Given the description of an element on the screen output the (x, y) to click on. 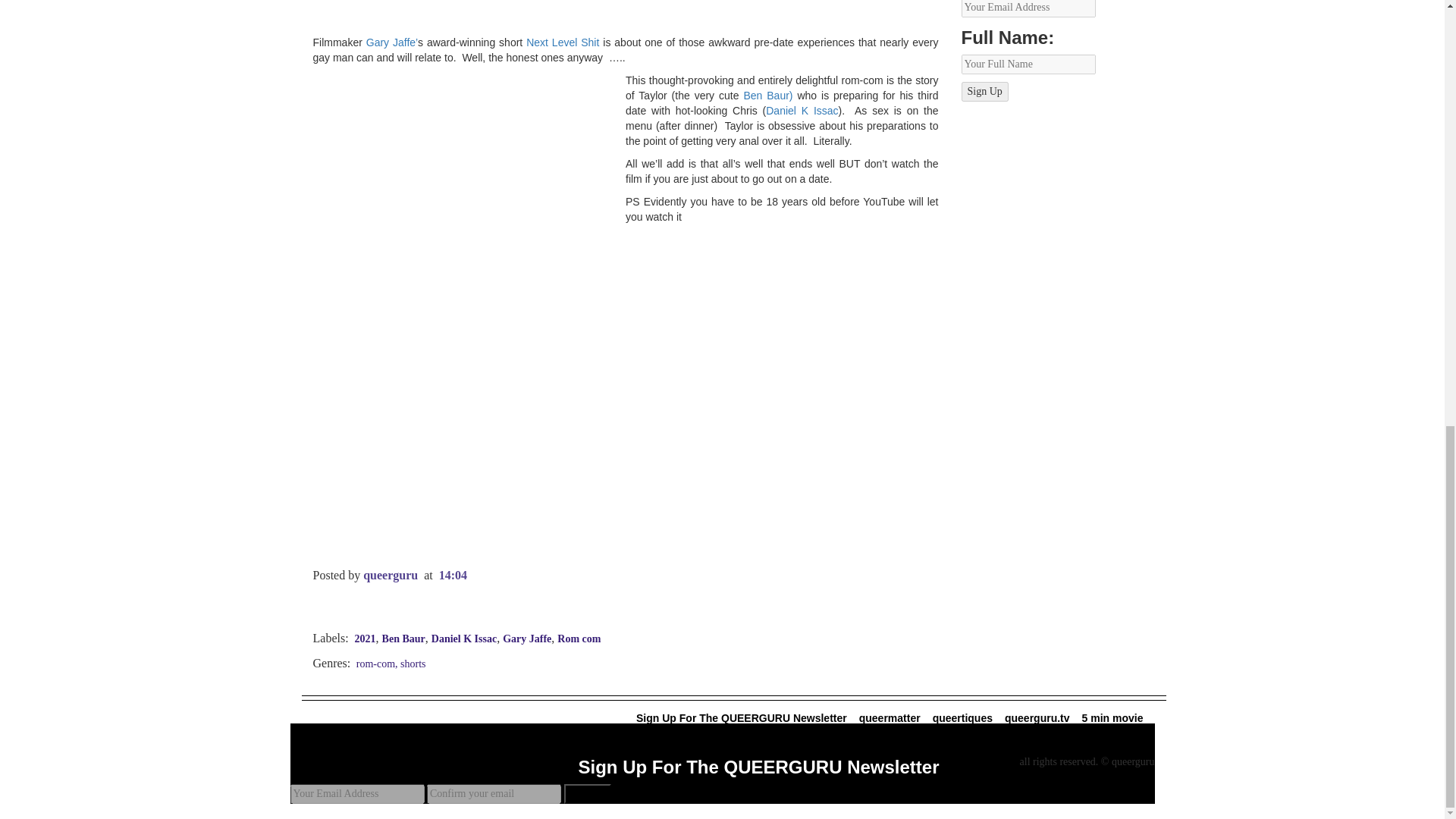
2021 (365, 638)
14:04 (453, 574)
queerguru (389, 574)
Sign Up (984, 91)
Sign Up (587, 793)
Daniel K Issac (801, 110)
Ben Baur (403, 638)
Gary Jaffe (526, 638)
Next Level Shit (561, 42)
Daniel K Issac (463, 638)
rom-com, shorts (389, 663)
Rom com (578, 638)
